Given the description of an element on the screen output the (x, y) to click on. 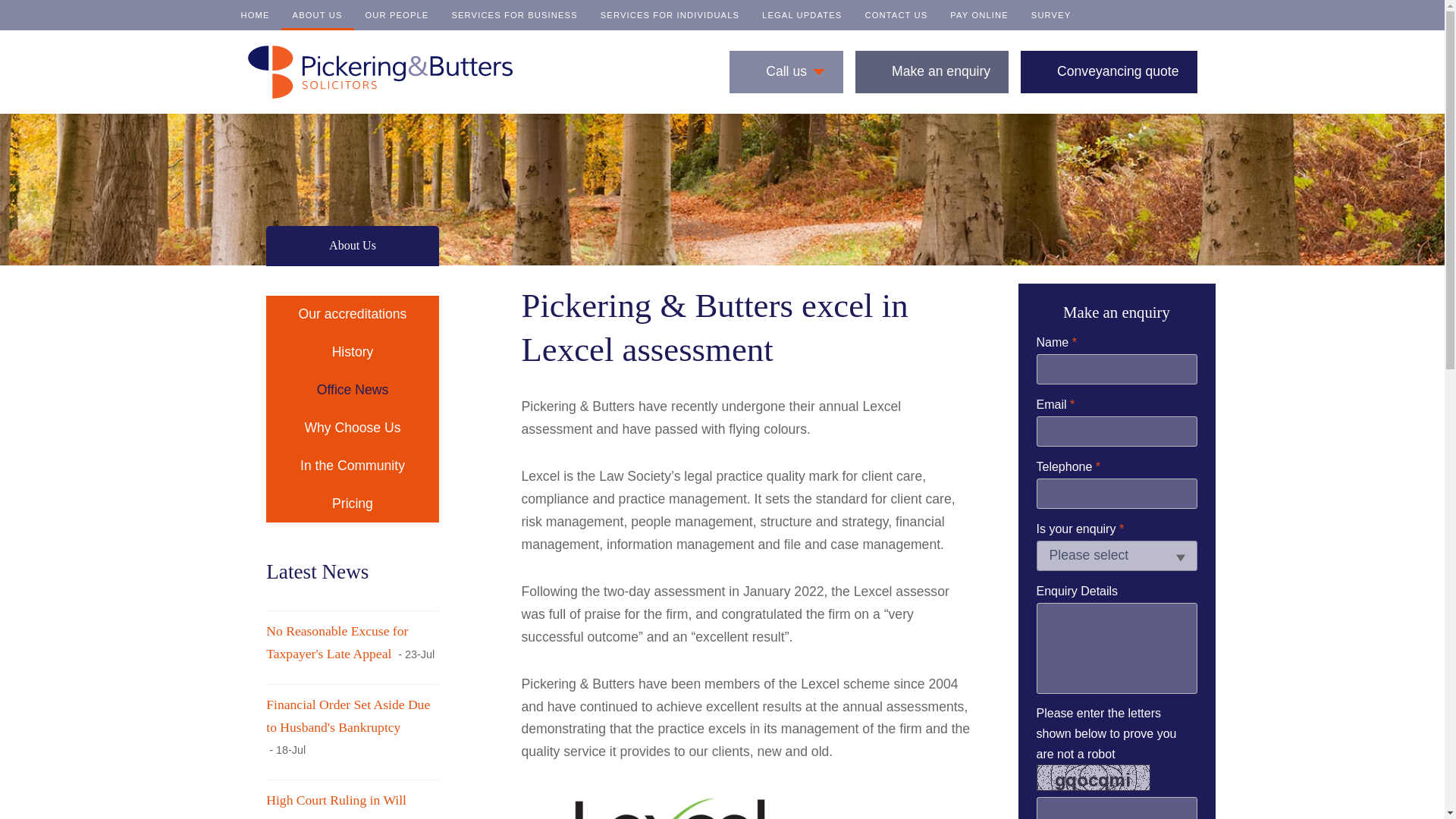
SERVICES FOR INDIVIDUALS (670, 15)
SERVICES FOR BUSINESS (513, 15)
OUR PEOPLE (396, 15)
HOME (254, 15)
LEGAL UPDATES (802, 15)
ABOUT US (317, 15)
